Given the description of an element on the screen output the (x, y) to click on. 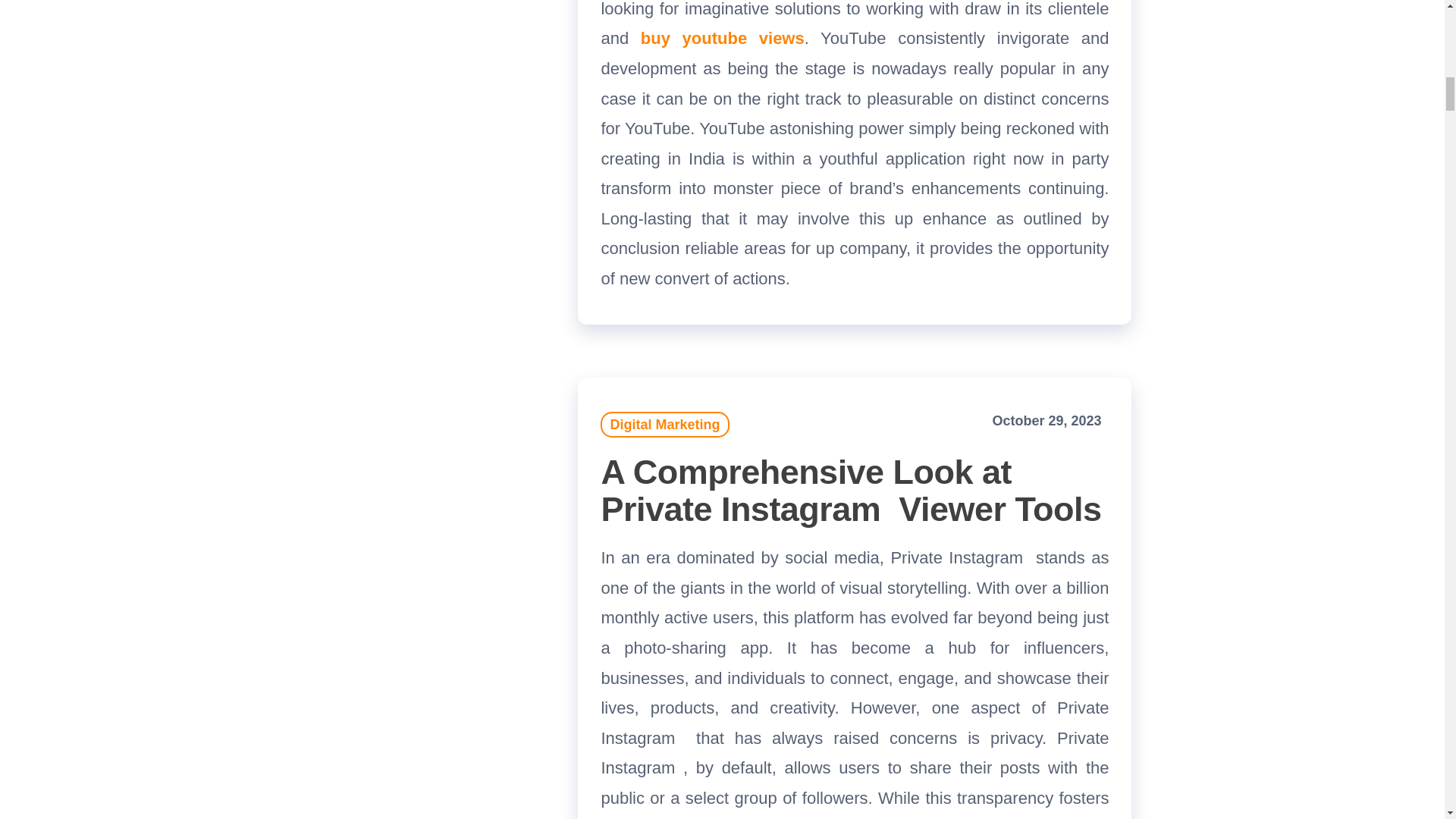
Digital Marketing (664, 424)
A Comprehensive Look at Private Instagram  Viewer Tools (849, 490)
buy youtube views (722, 37)
